Given the description of an element on the screen output the (x, y) to click on. 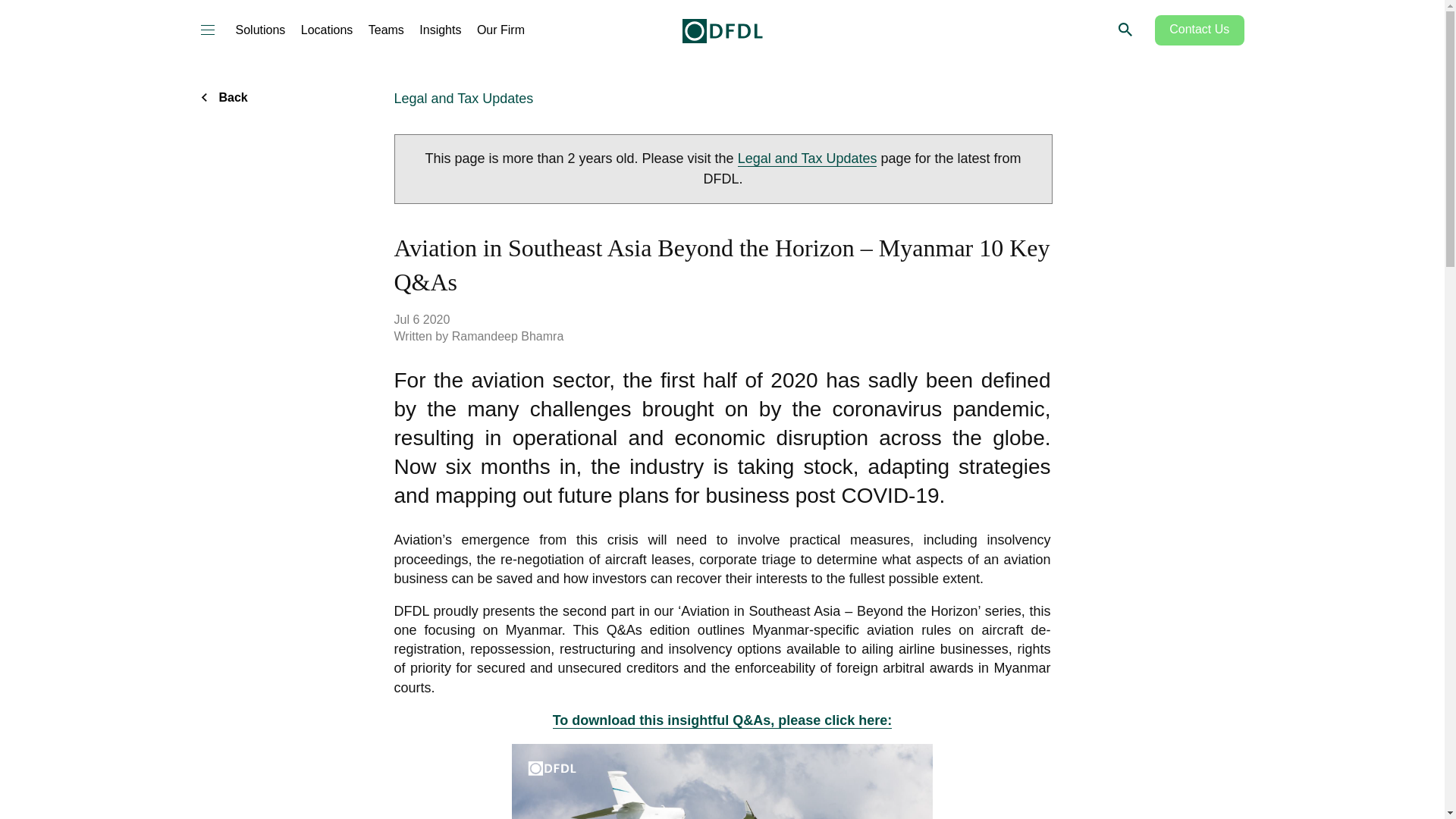
Contact Us (1199, 30)
Back (231, 97)
Our Firm (500, 29)
Search (1124, 29)
Solutions (259, 29)
Teams (386, 29)
Locations (327, 29)
Insights (440, 29)
Legal and Tax Updates (807, 158)
